Given the description of an element on the screen output the (x, y) to click on. 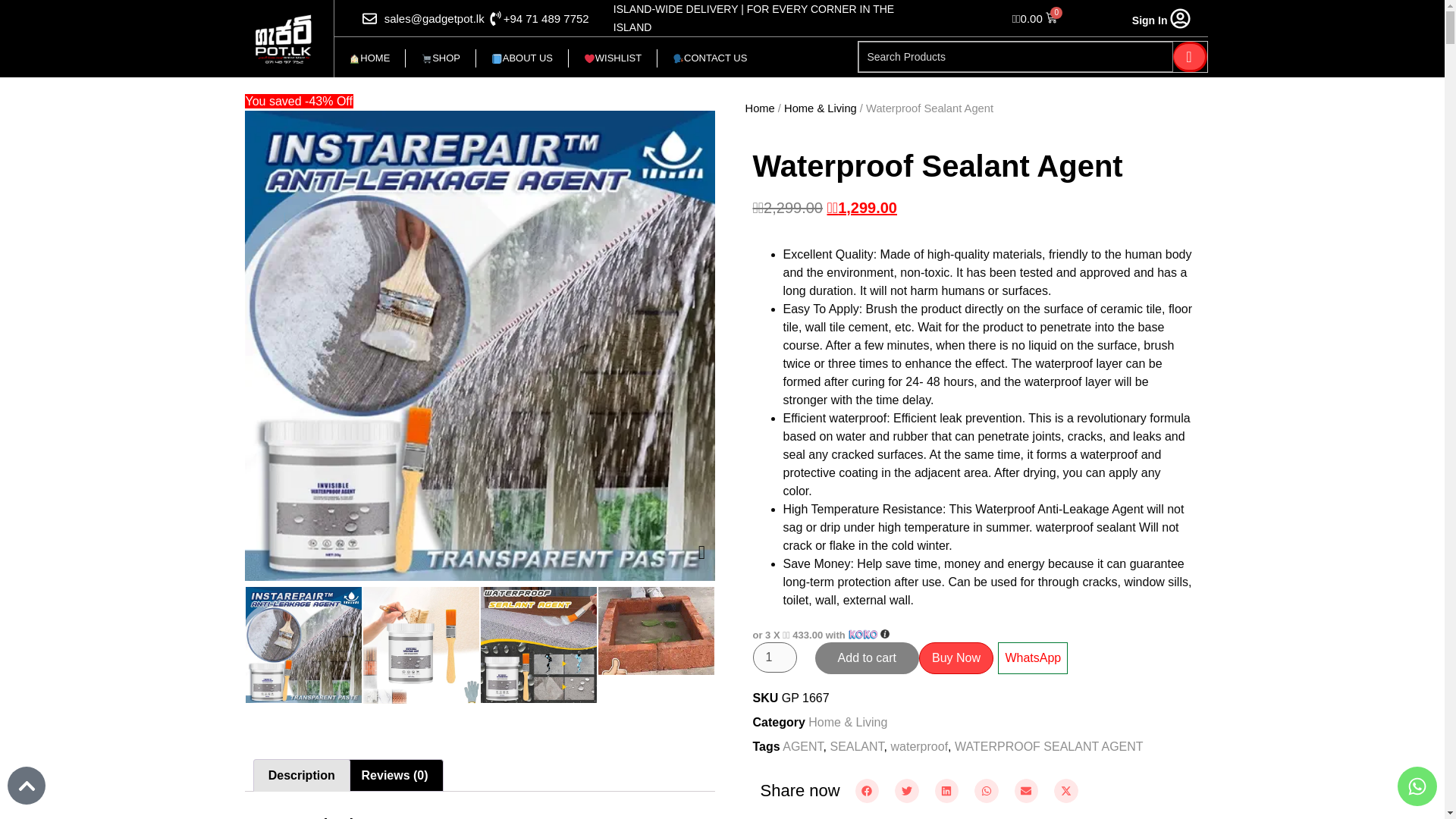
Buy Now (955, 658)
CONTACT US (709, 58)
ABOUT US (521, 58)
Search (1189, 56)
Sign In (1149, 19)
1 (774, 657)
SHOP (441, 58)
HOME (368, 58)
WISHLIST (612, 58)
